Given the description of an element on the screen output the (x, y) to click on. 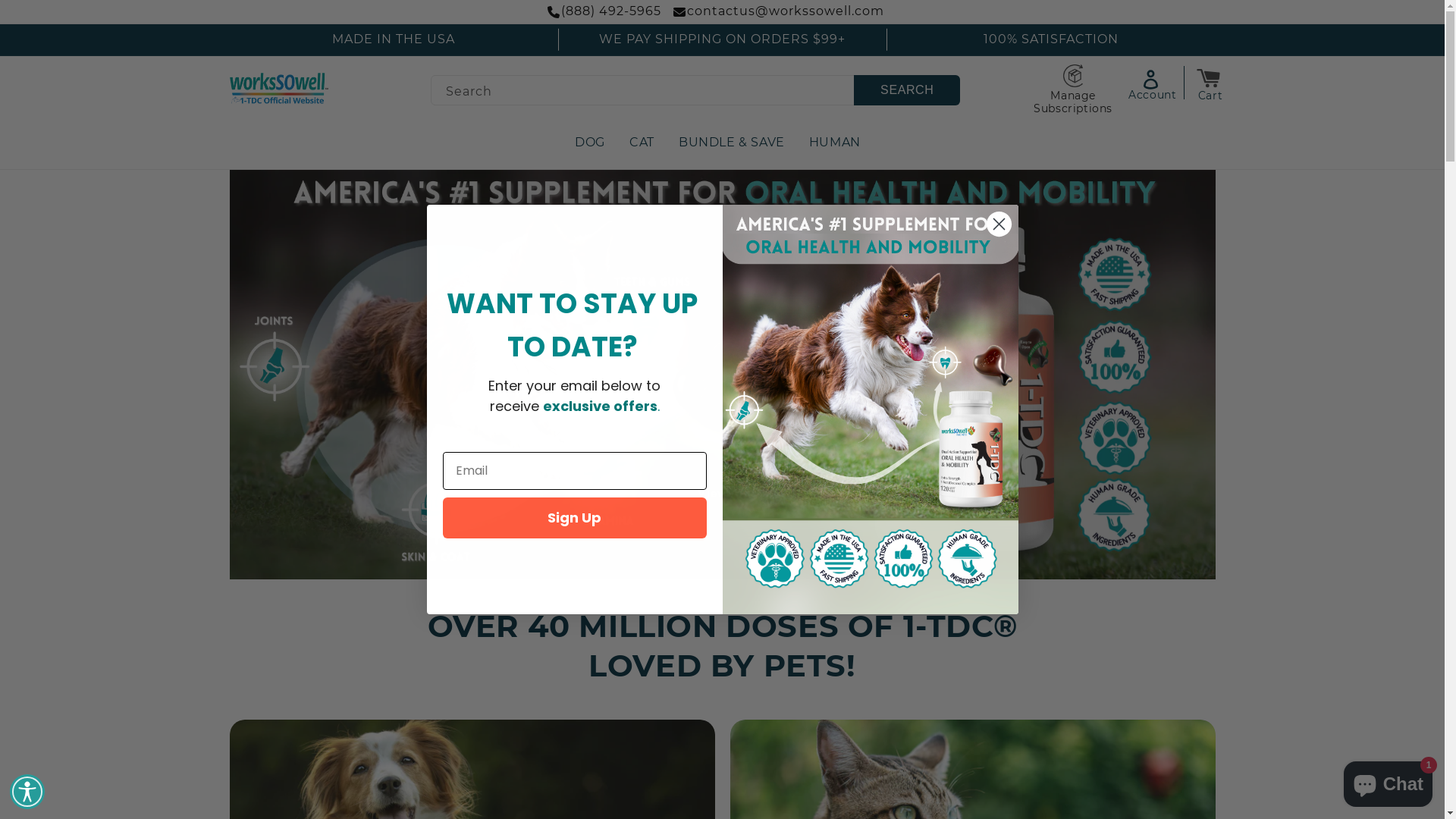
Sign Up Element type: text (574, 517)
CAT Element type: text (641, 142)
Account Element type: text (1155, 82)
Manage Subscriptions Element type: text (1072, 89)
DOG Element type: text (589, 142)
Cart Element type: text (1210, 78)
SEARCH Element type: text (906, 90)
HUMAN Element type: text (834, 142)
View All Element type: text (721, 493)
BUNDLE & SAVE Element type: text (731, 142)
Submit Element type: text (21, 7)
contactus@workssowell.com Element type: text (785, 10)
Close dialog 2 Element type: text (998, 223)
Shopify online store chat Element type: hover (1388, 780)
